Given the description of an element on the screen output the (x, y) to click on. 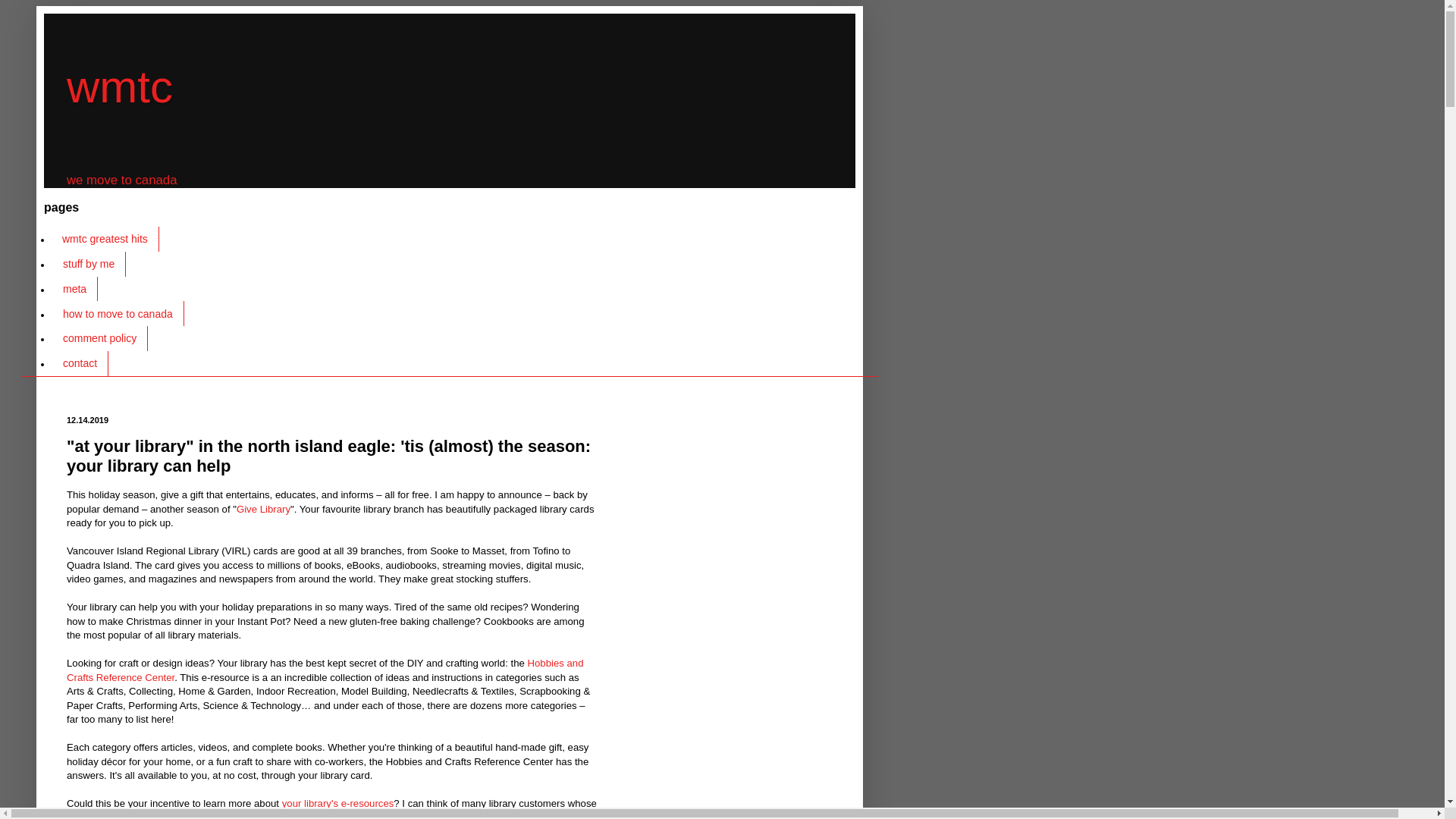
Give Library (262, 509)
meta (73, 289)
stuff by me (87, 263)
your library's e-resources (338, 803)
wmtc (119, 86)
comment policy (99, 338)
contact (78, 363)
how to move to canada (117, 313)
Hobbies and Crafts Reference Center (324, 669)
wmtc greatest hits (104, 238)
